Given the description of an element on the screen output the (x, y) to click on. 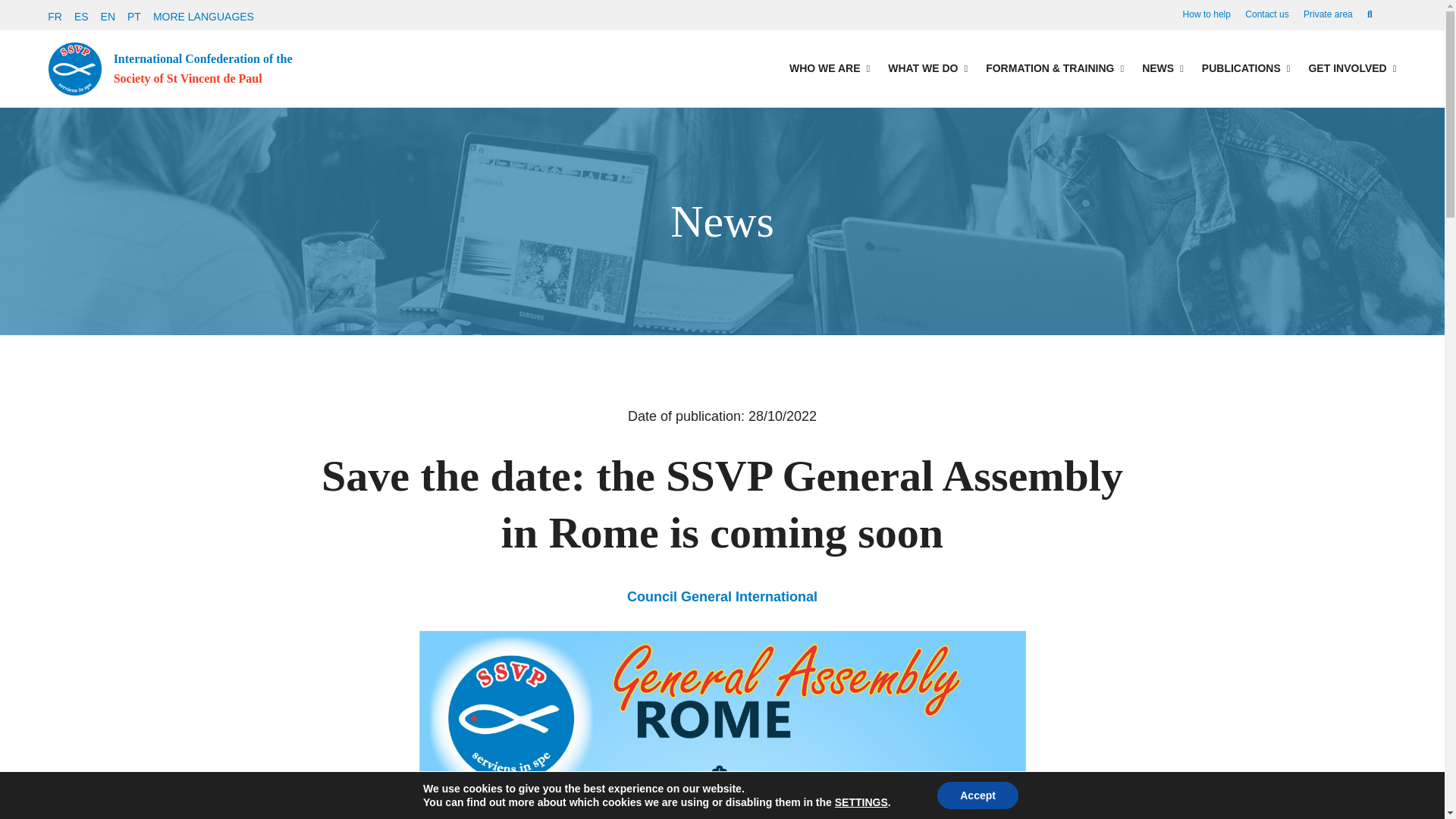
PT (134, 16)
MORE LANGUAGES (202, 16)
Contact us (1266, 14)
EN (107, 16)
WHO WE ARE (829, 68)
Private area (1327, 14)
FR (55, 16)
NEWS (1162, 68)
WHAT WE DO (928, 68)
PUBLICATIONS (1246, 68)
ES (81, 16)
How to help (1206, 14)
